Given the description of an element on the screen output the (x, y) to click on. 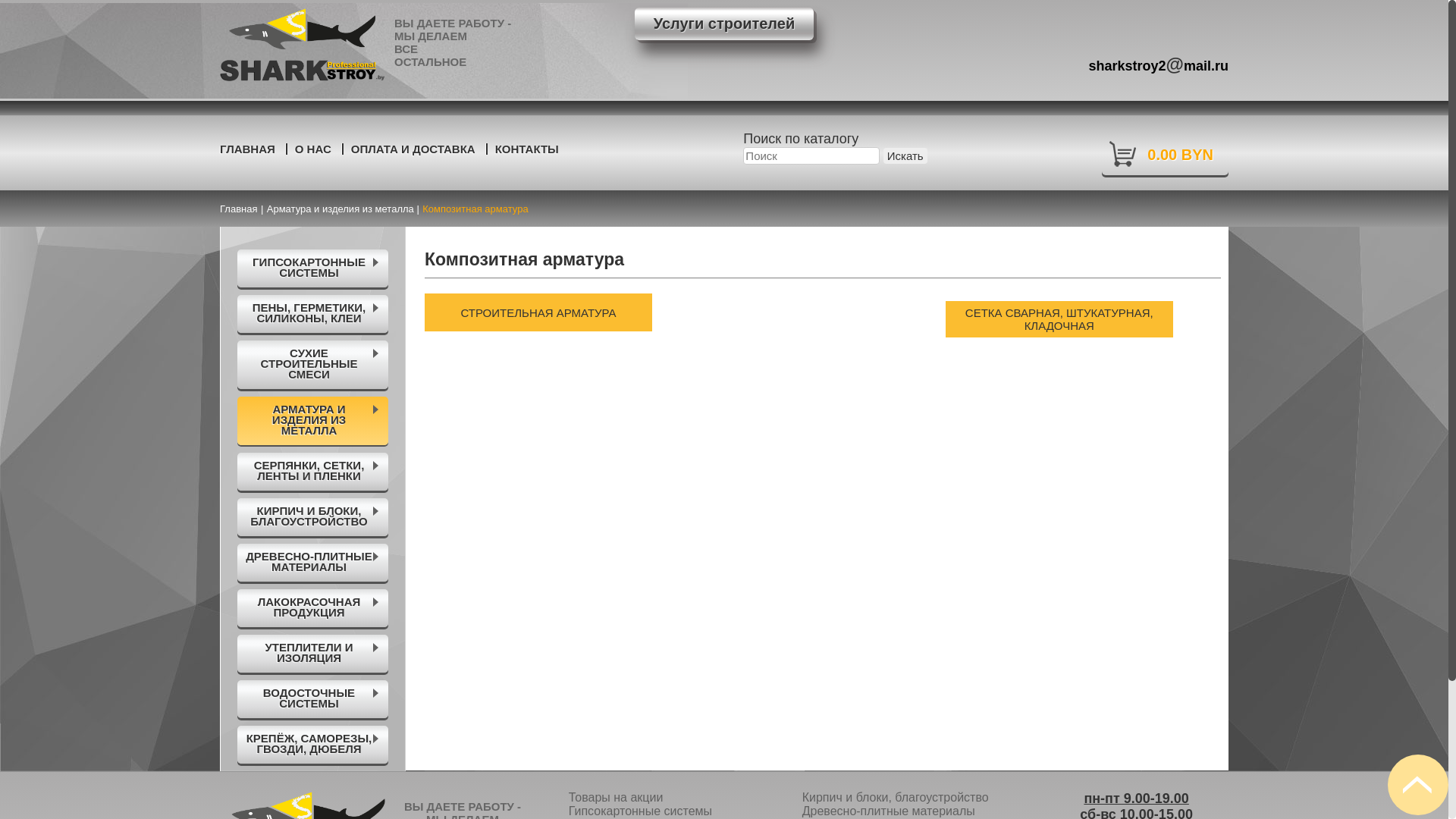
sharkstroy2@mail.ru Element type: text (1158, 60)
0.00 BYN Element type: text (1164, 152)
